Given the description of an element on the screen output the (x, y) to click on. 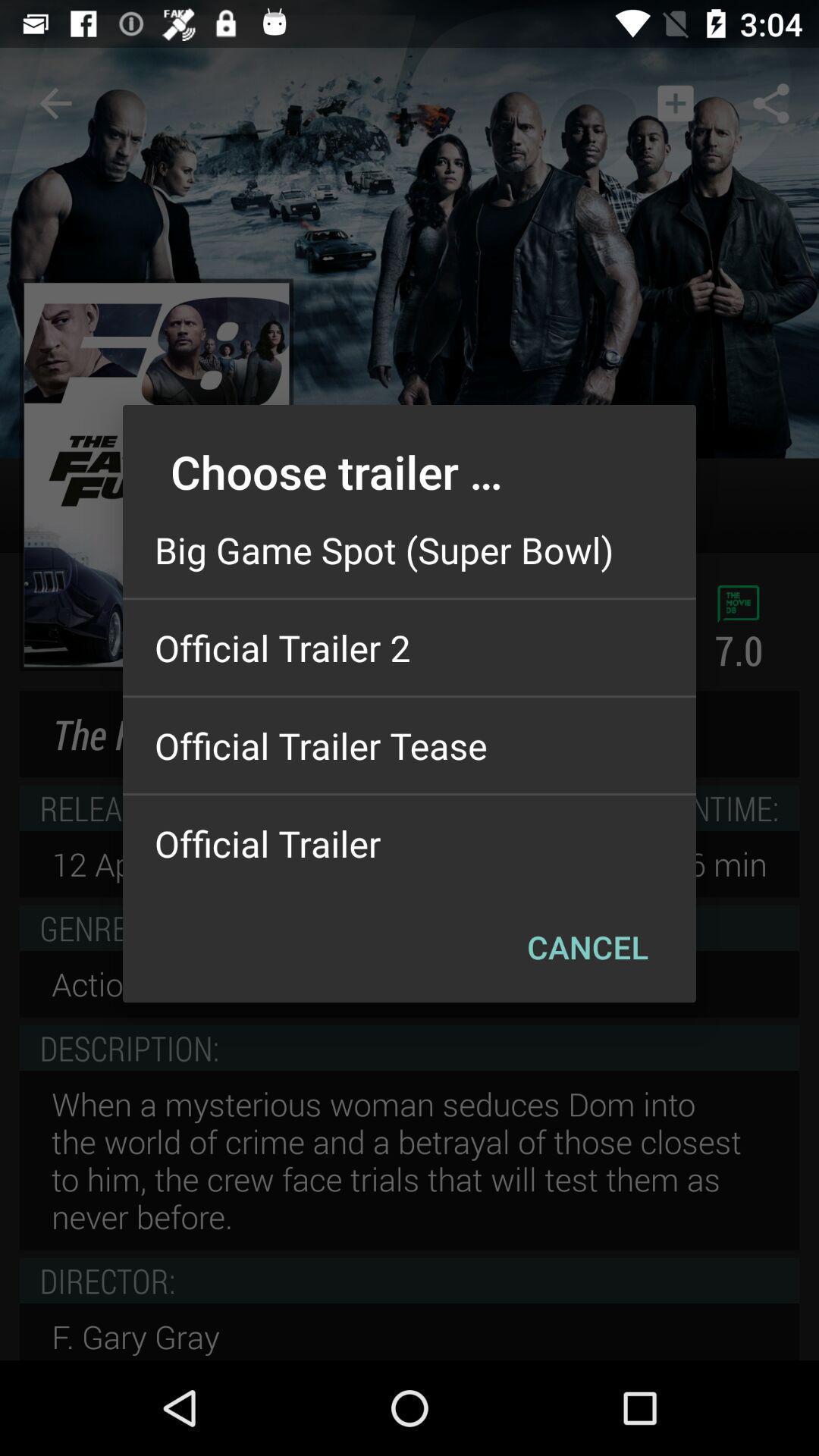
launch cancel icon (587, 946)
